Given the description of an element on the screen output the (x, y) to click on. 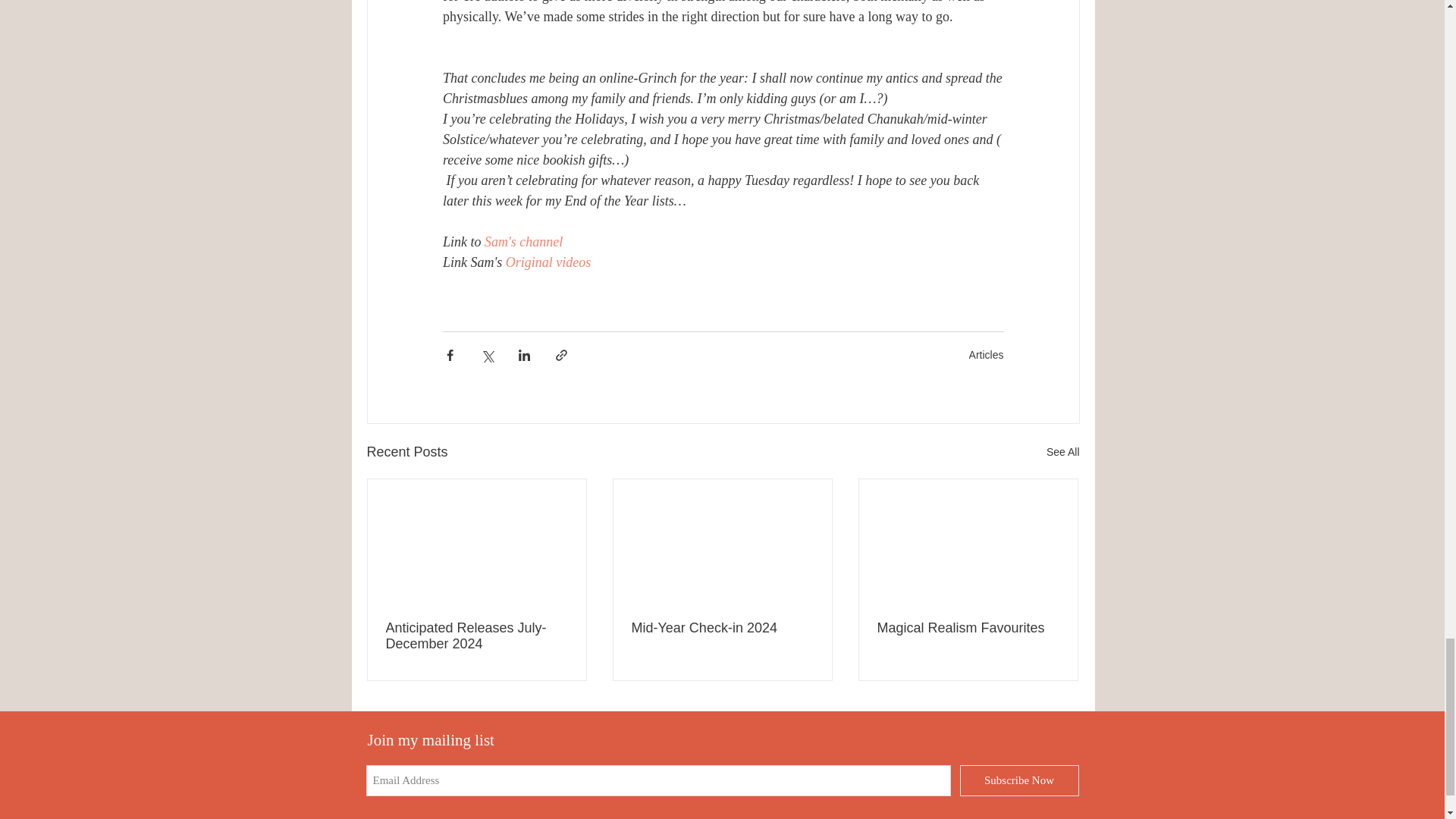
Sam's channel (523, 241)
Original videos (548, 262)
Articles (986, 354)
Magical Realism Favourites (967, 627)
Subscribe Now (1018, 780)
See All (1063, 452)
Mid-Year Check-in 2024 (721, 627)
Anticipated Releases July-December 2024 (476, 635)
